Given the description of an element on the screen output the (x, y) to click on. 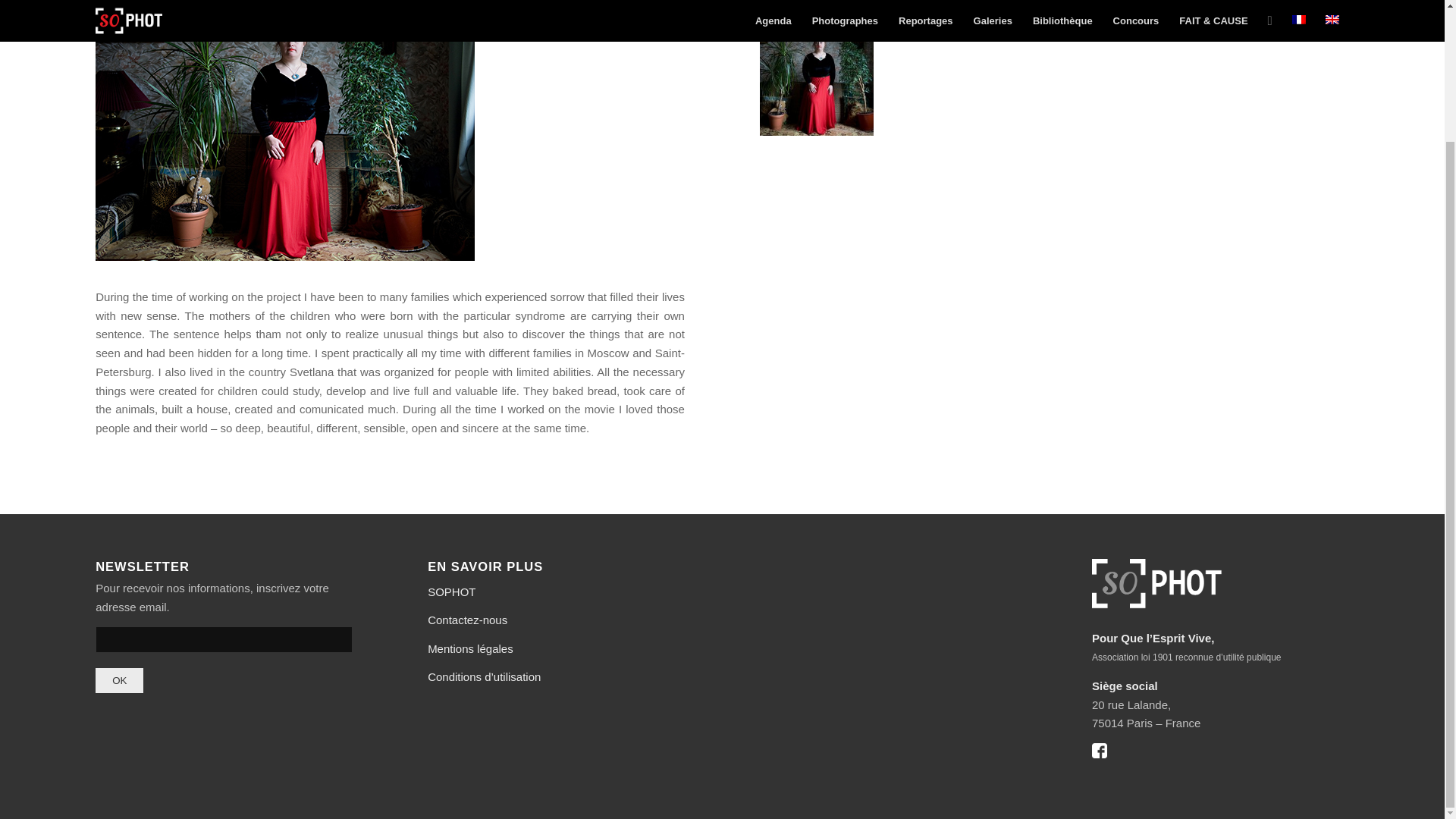
Simplicity syndrome (288, 130)
OK (119, 680)
Simplicity syndrome (816, 131)
OK (119, 680)
SOPHOT (452, 591)
Contactez-nous (467, 619)
